Given the description of an element on the screen output the (x, y) to click on. 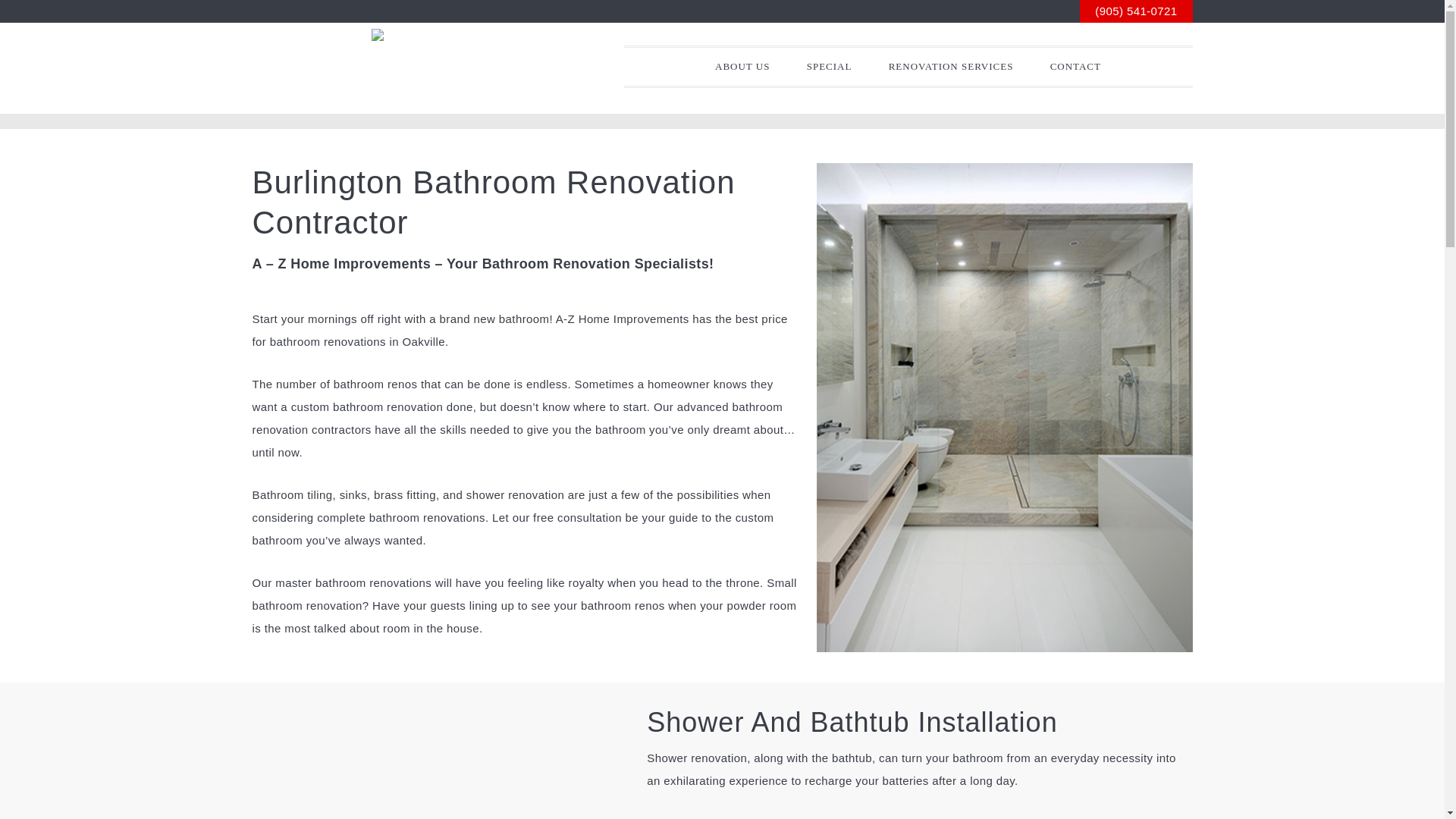
ABOUT US Element type: text (742, 66)
SPECIAL Element type: text (829, 66)
CONTACT Element type: text (1075, 66)
RENOVATION SERVICES Element type: text (951, 66)
(905) 541-0721 Element type: text (1135, 11)
